Given the description of an element on the screen output the (x, y) to click on. 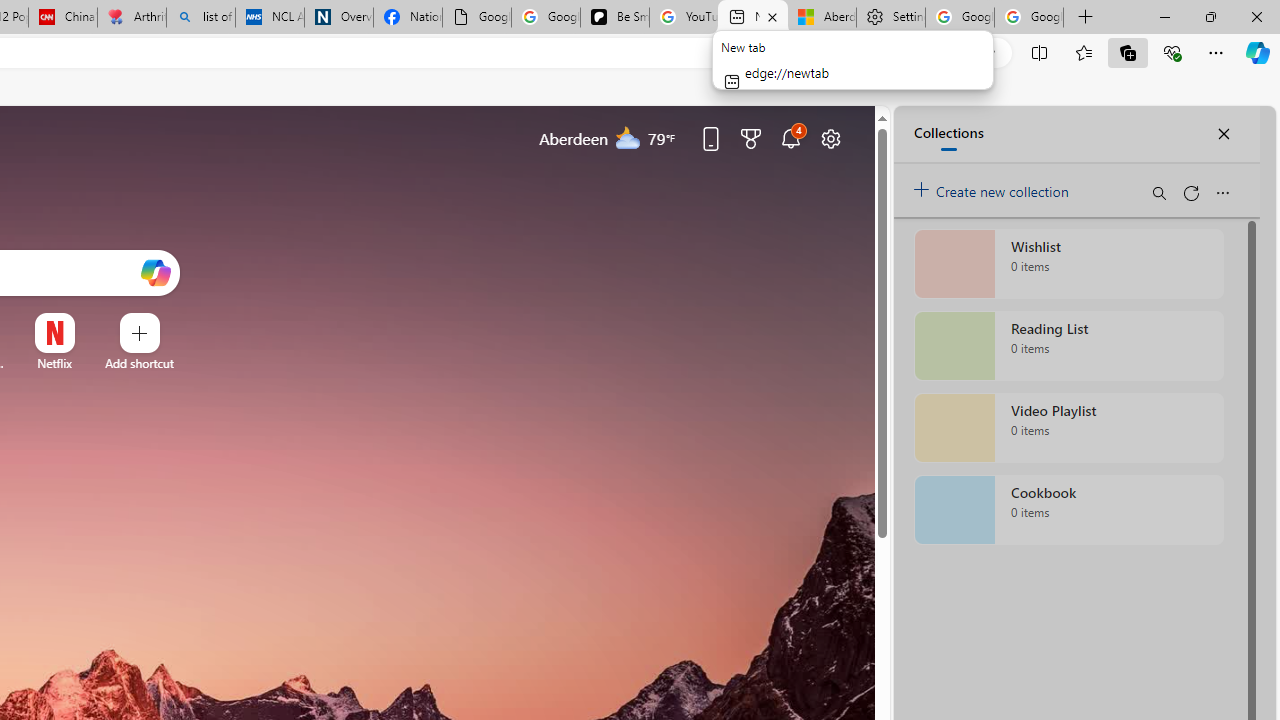
Be Smart | creating Science videos | Patreon (614, 17)
Google Analytics Opt-out Browser Add-on Download Page (476, 17)
